Given the description of an element on the screen output the (x, y) to click on. 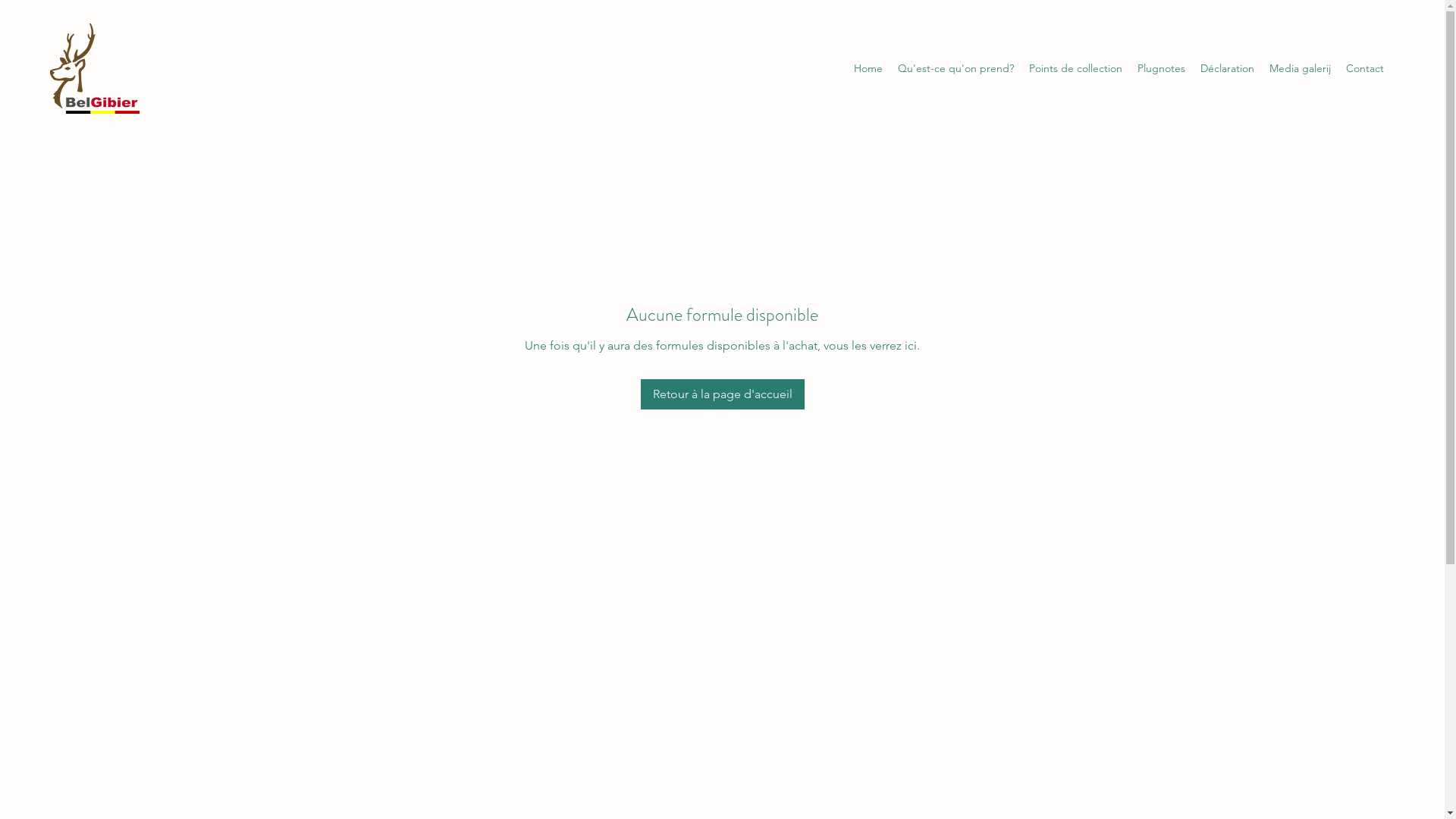
Contact Element type: text (1364, 67)
Qu'est-ce qu'on prend? Element type: text (955, 67)
Media galerij Element type: text (1299, 67)
Plugnotes Element type: text (1160, 67)
Home Element type: text (868, 67)
Points de collection Element type: text (1075, 67)
